Given the description of an element on the screen output the (x, y) to click on. 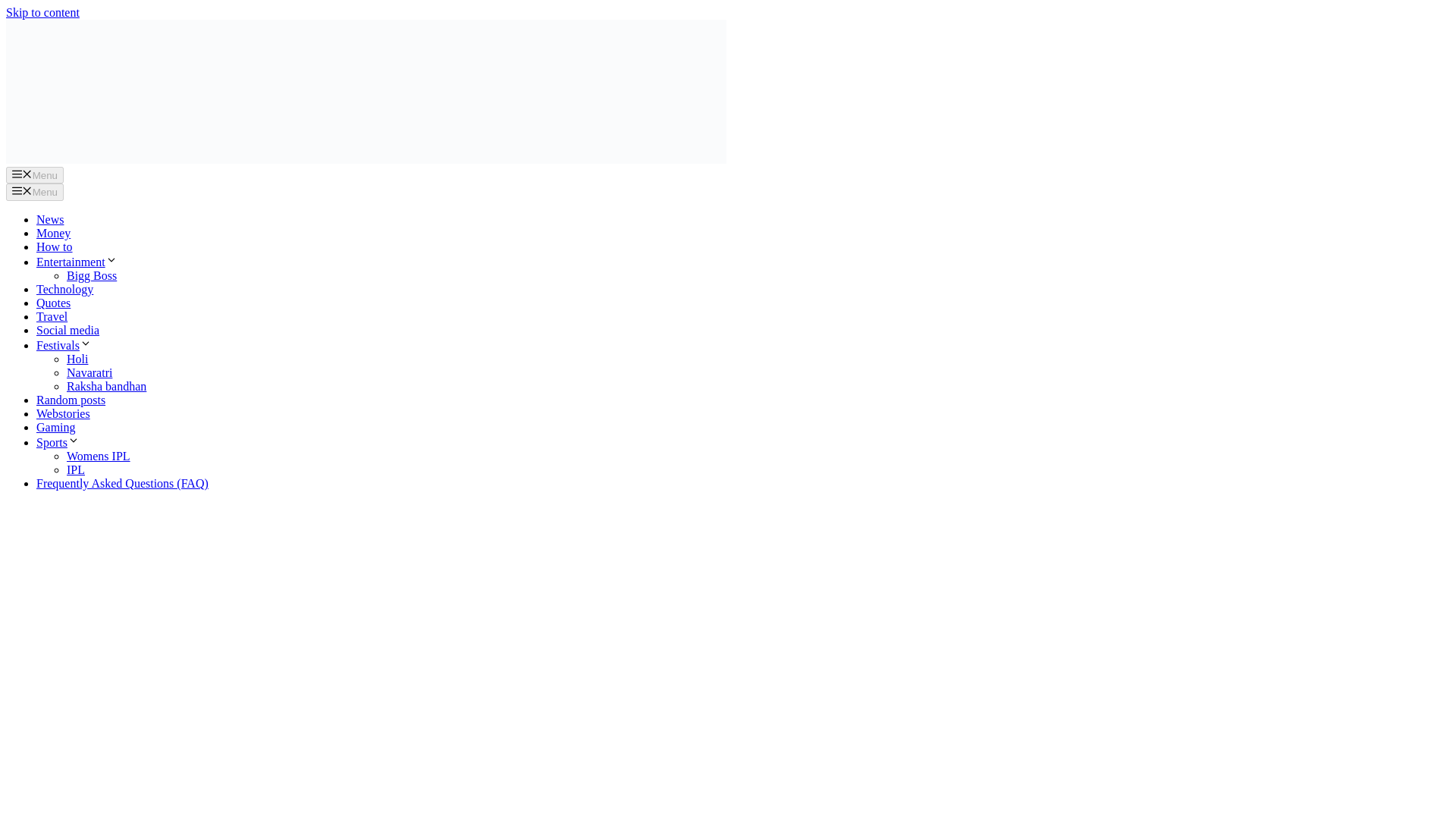
IPL (75, 469)
Womens IPL (98, 455)
Bigg Boss (91, 275)
Webstories (63, 413)
Navaratri (89, 372)
Technology (64, 288)
Raksha bandhan (106, 386)
Skip to content (42, 11)
Menu (34, 191)
Random posts (70, 399)
